Given the description of an element on the screen output the (x, y) to click on. 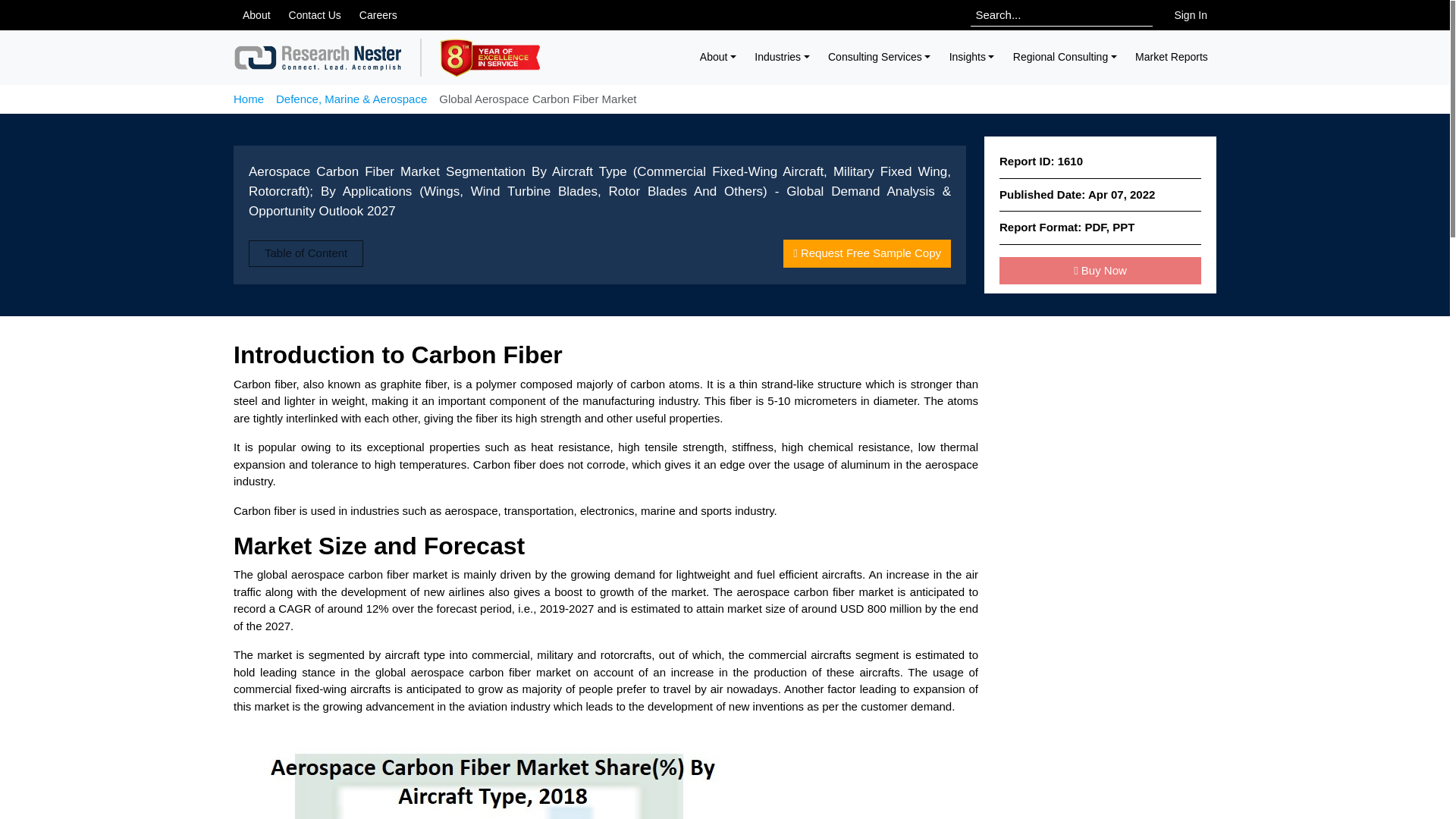
Careers (378, 15)
Sign In (1189, 15)
Sign In (1189, 15)
About (255, 15)
Contact Us (314, 15)
About (718, 57)
Industries (781, 57)
Media Center (378, 15)
Media Center (255, 15)
Research Nester (318, 57)
Contact Us (314, 15)
